Given the description of an element on the screen output the (x, y) to click on. 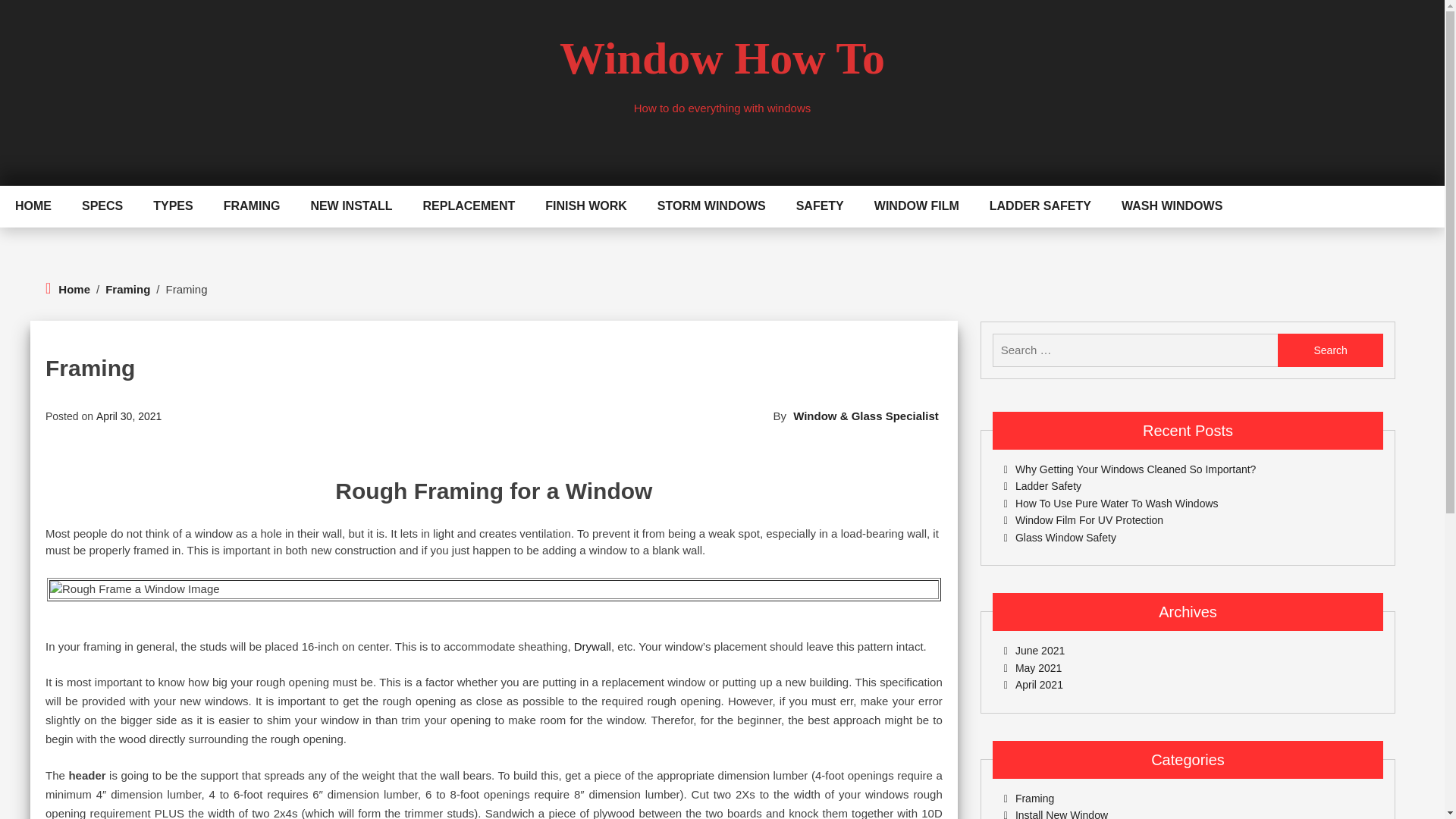
Search (1330, 349)
Ladder Safety (1042, 485)
April 30, 2021 (128, 416)
Home (74, 289)
Why Getting Your Windows Cleaned So Important? (1130, 468)
Window Film For UV Protection (1083, 520)
Drywall (592, 645)
FINISH WORK (585, 206)
How To Use Pure Water To Wash Windows (1111, 503)
May 2021 (1033, 666)
